Given the description of an element on the screen output the (x, y) to click on. 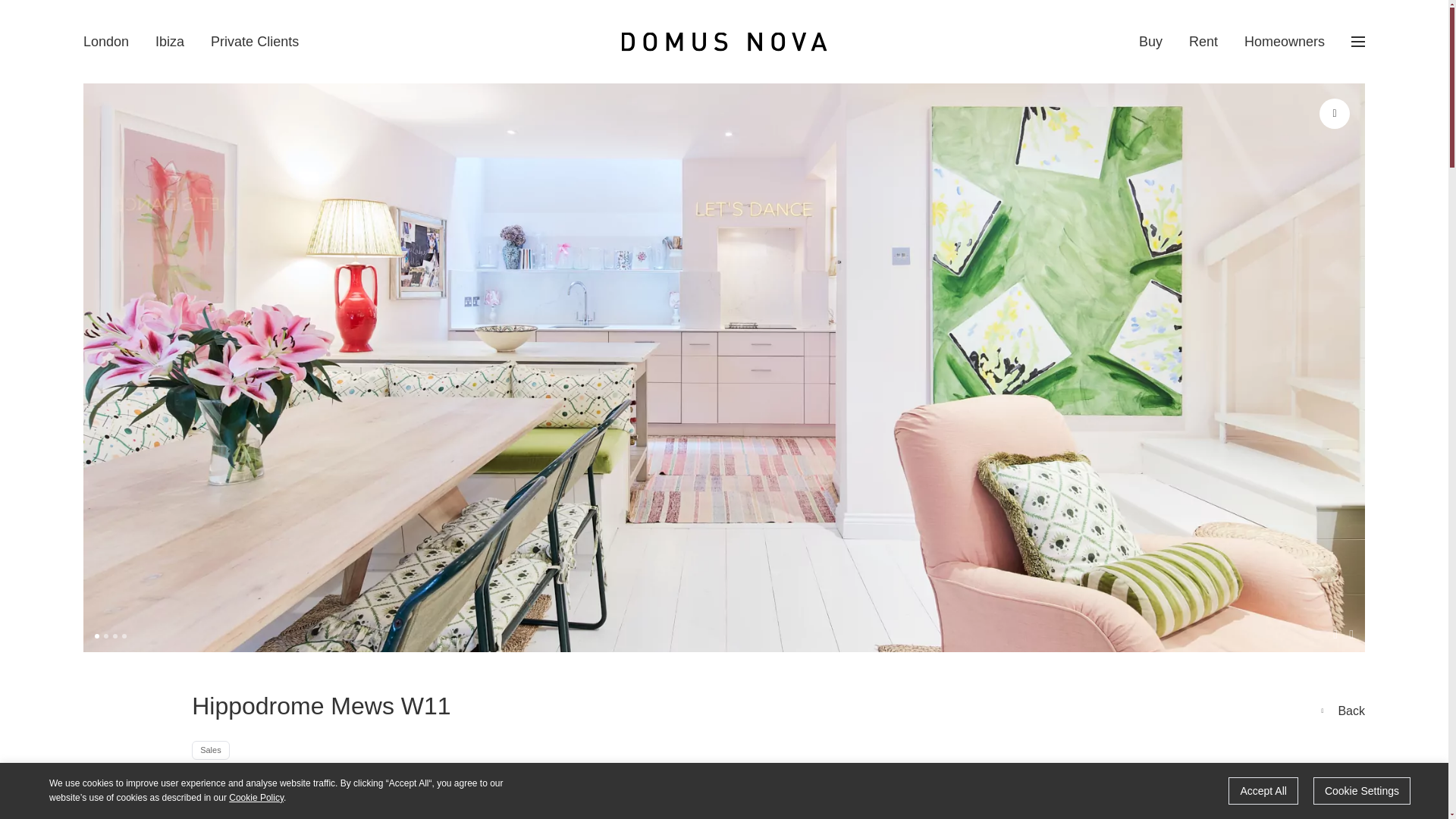
Ibiza (169, 41)
Rent (1203, 41)
London (105, 41)
Homeowners (1284, 41)
Buy (1149, 41)
Private Clients (254, 41)
